Given the description of an element on the screen output the (x, y) to click on. 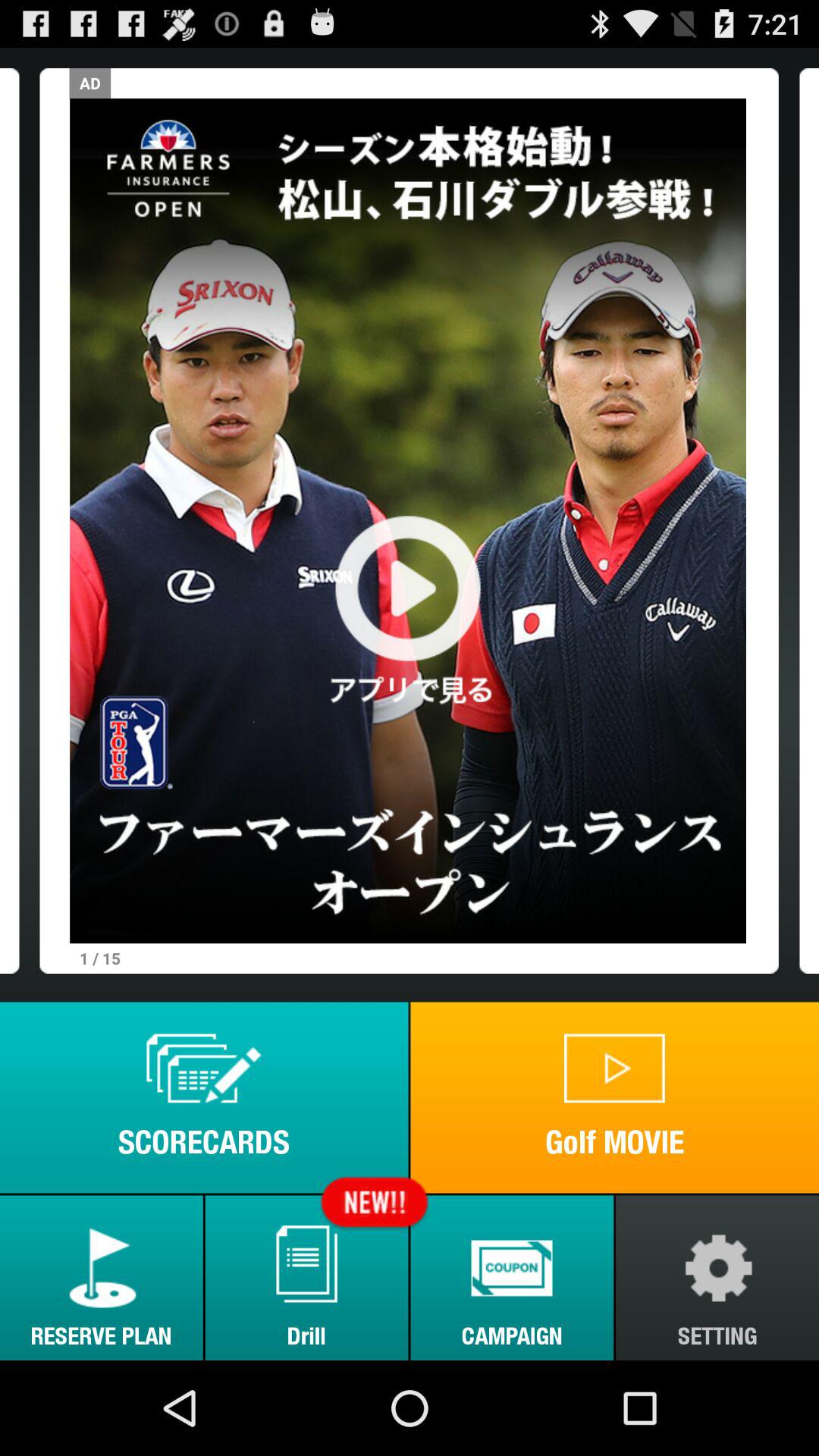
press item to the left of the drill item (101, 1277)
